Given the description of an element on the screen output the (x, y) to click on. 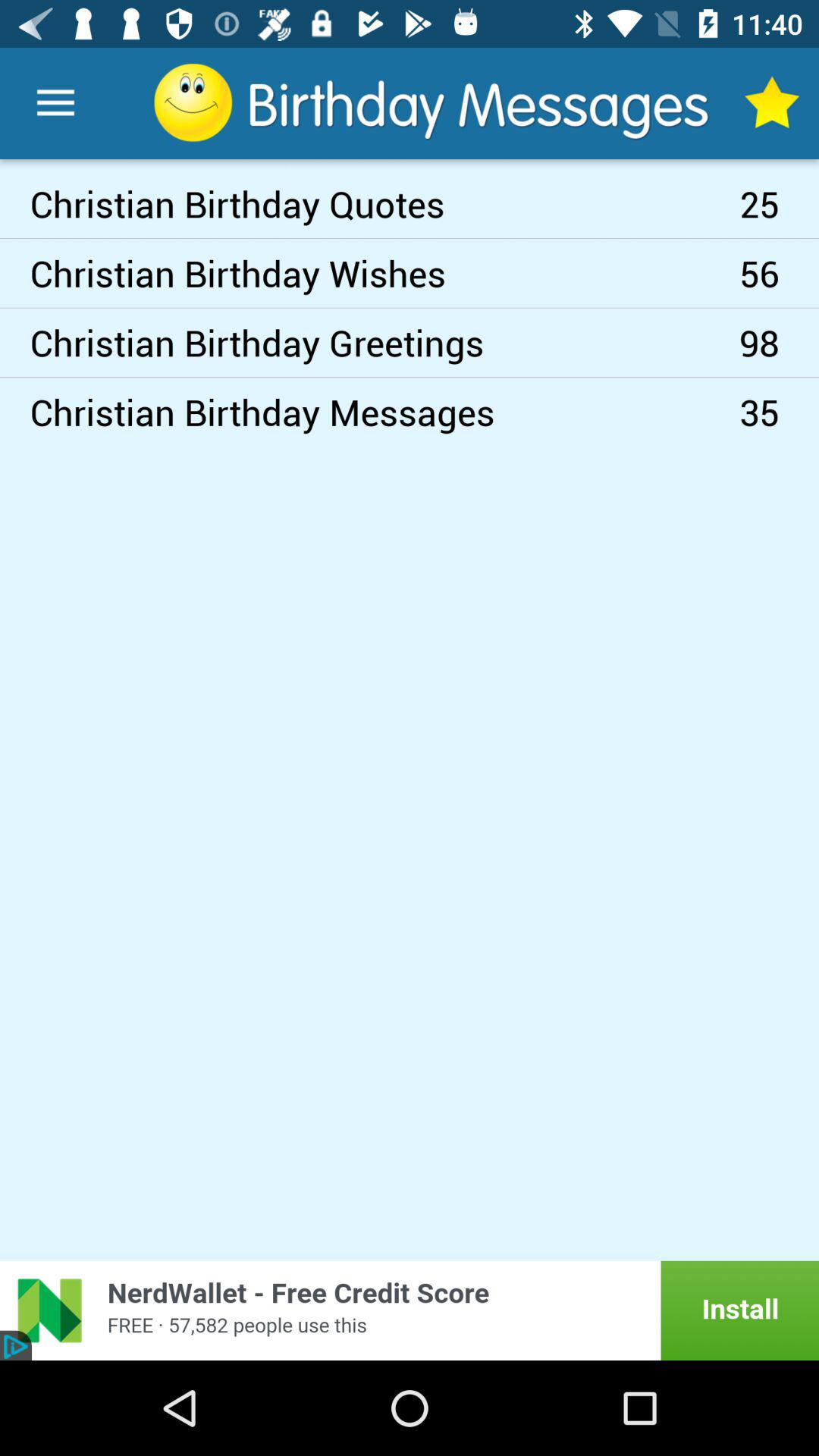
turn off the 98 item (779, 342)
